Given the description of an element on the screen output the (x, y) to click on. 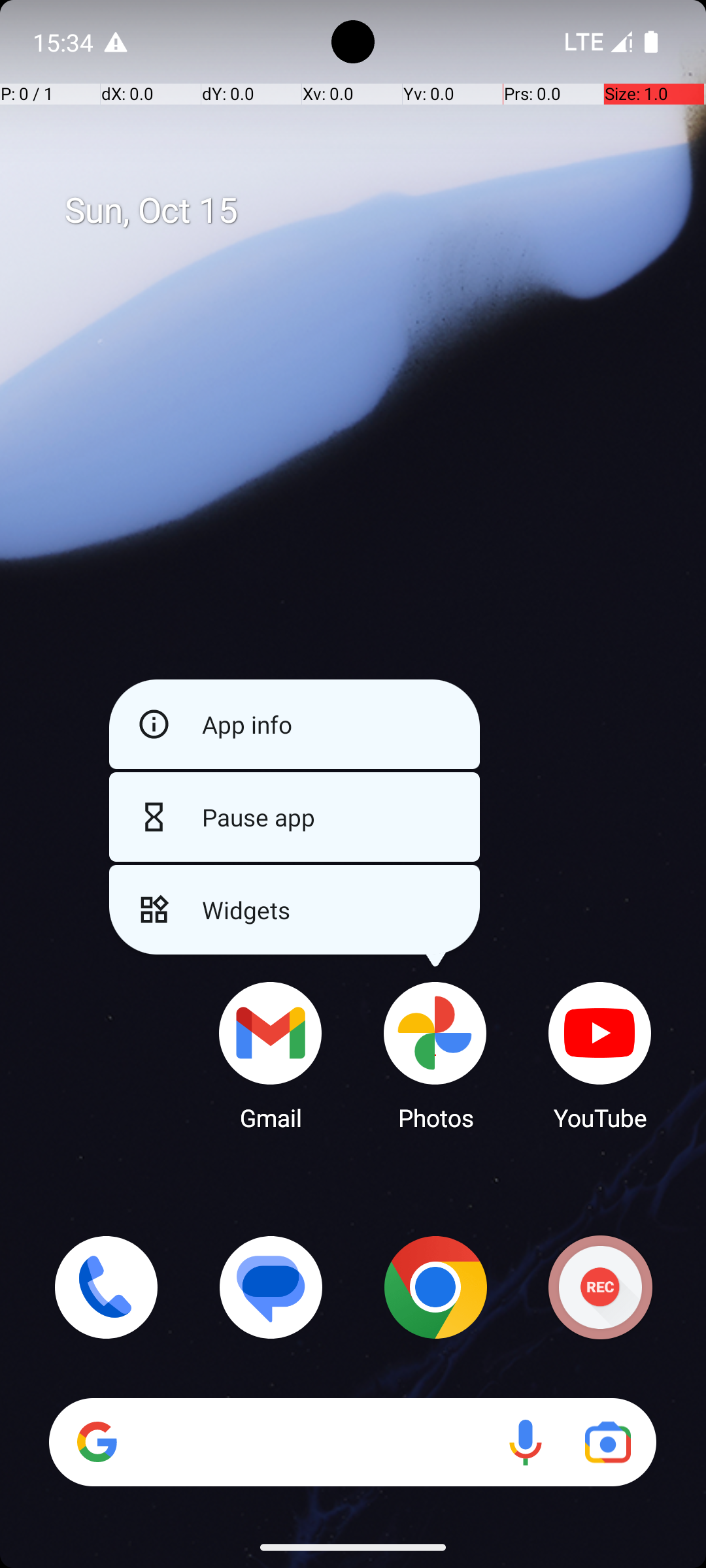
App info Element type: android.widget.TextView (294, 723)
Pause app Element type: android.widget.TextView (294, 816)
Widgets Element type: android.widget.TextView (294, 909)
